Given the description of an element on the screen output the (x, y) to click on. 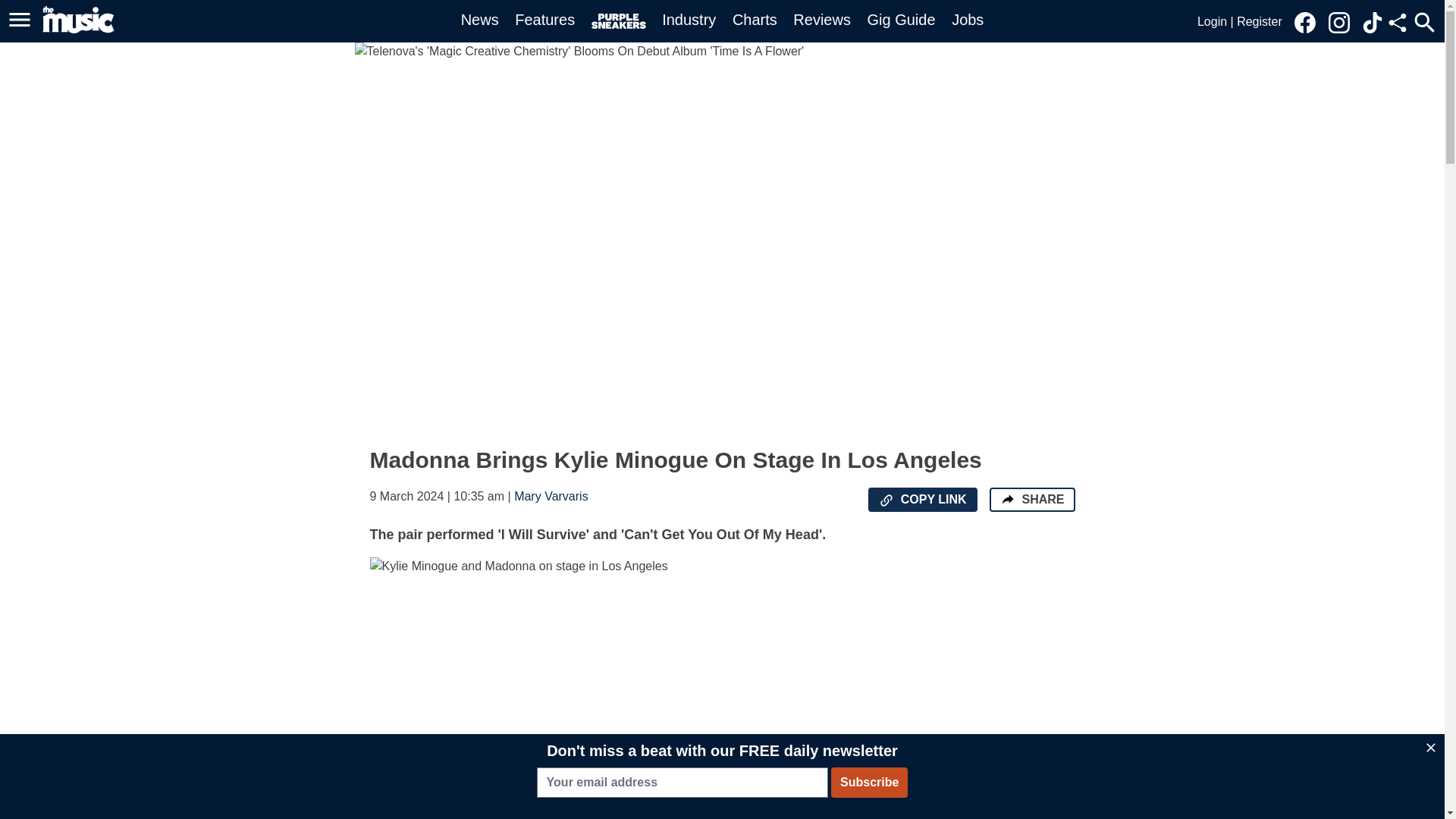
Link to our TikTok (1372, 22)
Share this page (1397, 22)
Jobs (968, 19)
Share the page (1007, 498)
Link to our Instagram (1342, 21)
Features (545, 19)
Copy the page URL (886, 500)
Open the site search menu (1424, 22)
Open the main menu (19, 19)
Open the main menu (22, 19)
